Given the description of an element on the screen output the (x, y) to click on. 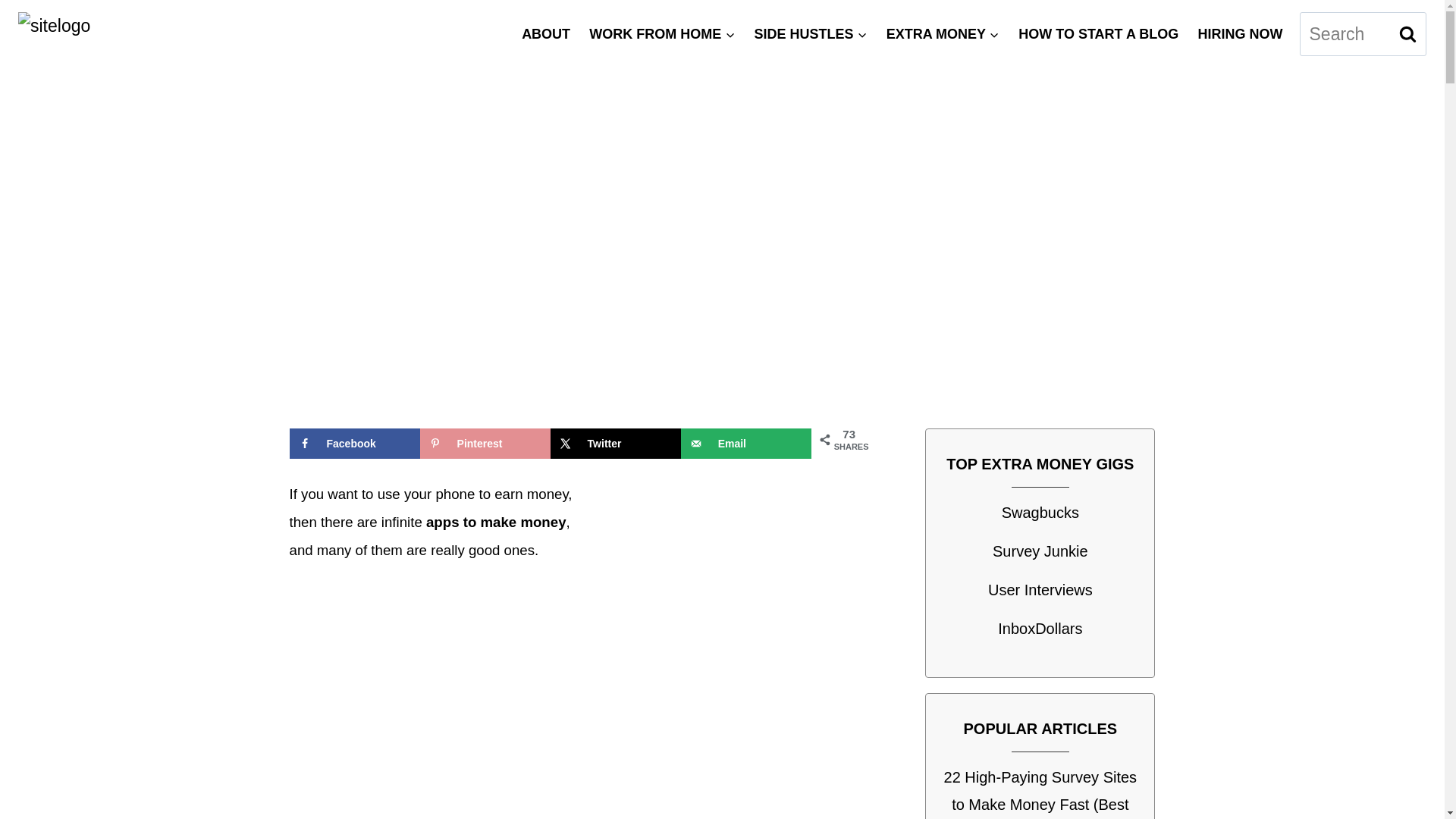
Save to Pinterest (485, 443)
ABOUT (545, 34)
Share on X (615, 443)
EXTRA MONEY (942, 34)
WORK FROM HOME (661, 34)
Send over email (745, 443)
SIDE HUSTLES (810, 34)
Share on Facebook (354, 443)
